Given the description of an element on the screen output the (x, y) to click on. 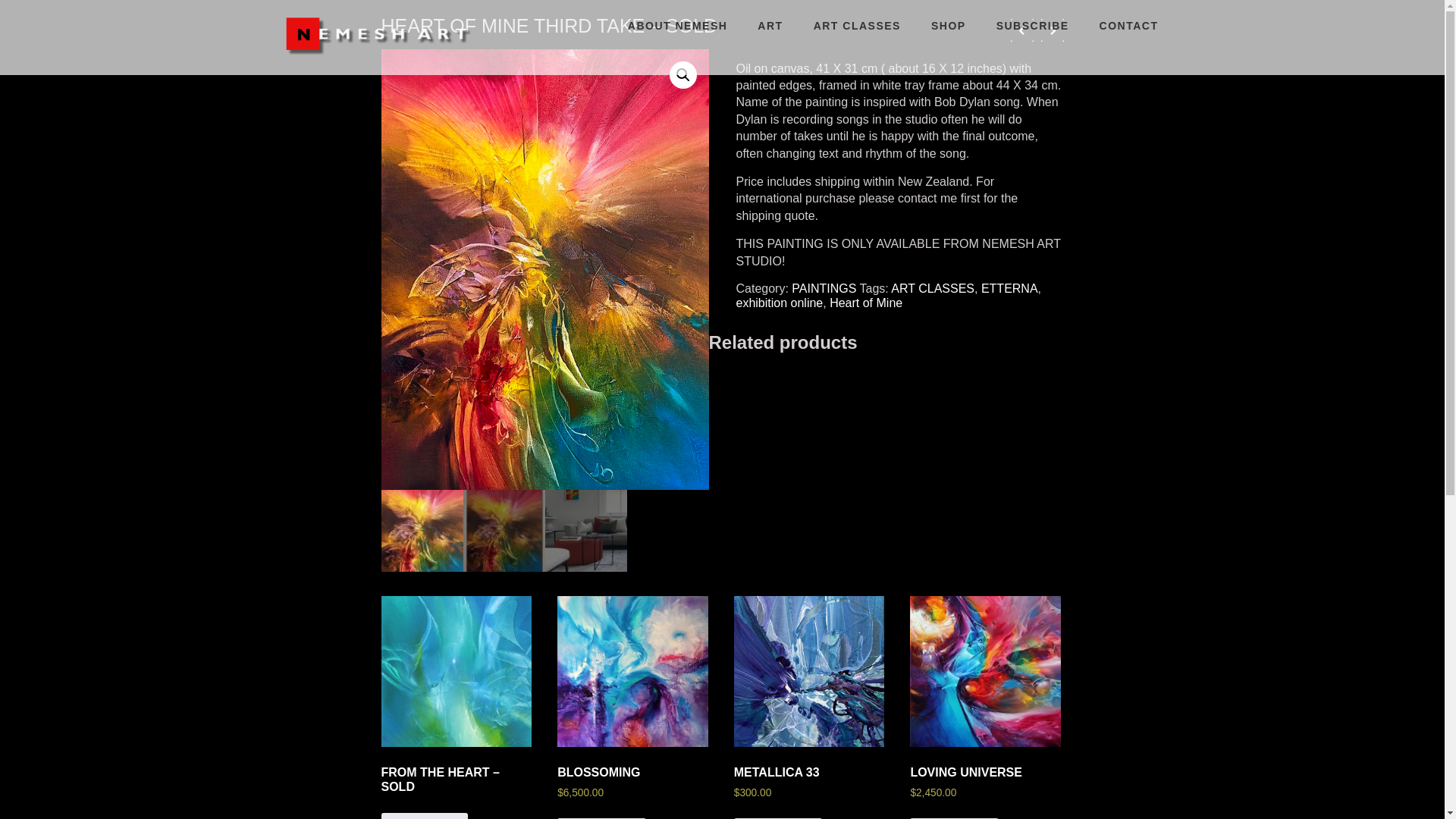
SUBSCRIBE (1032, 26)
exhibition online (778, 302)
SHOP (948, 26)
CONTACT (1128, 26)
PAINTINGS (824, 287)
ART (769, 26)
ABOUT NEMESH (677, 26)
ART CLASSES (857, 26)
ART CLASSES (932, 287)
ETTERNA (1009, 287)
